Given the description of an element on the screen output the (x, y) to click on. 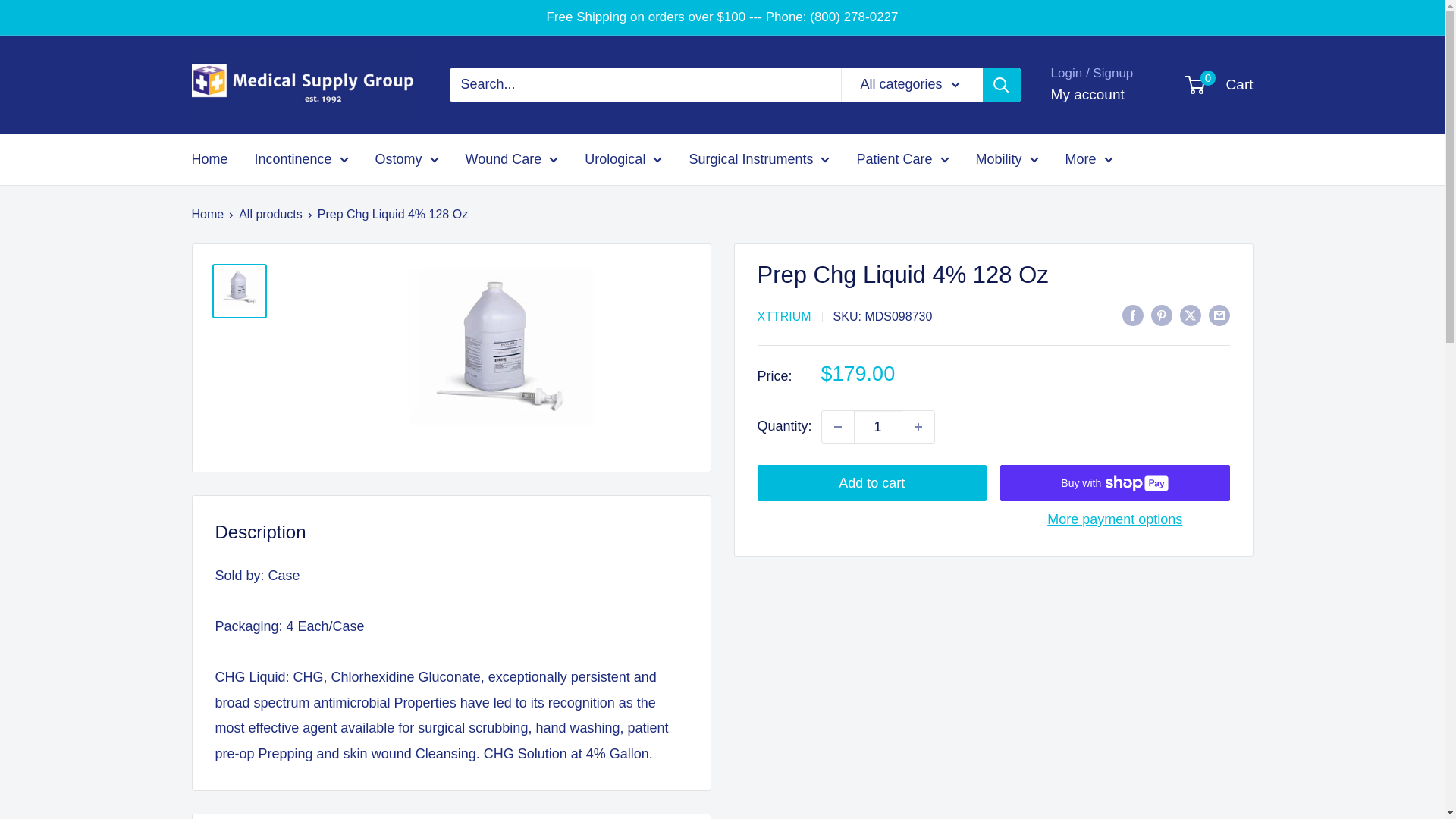
Increase quantity by 1 (918, 427)
1 (877, 427)
Decrease quantity by 1 (837, 427)
